Given the description of an element on the screen output the (x, y) to click on. 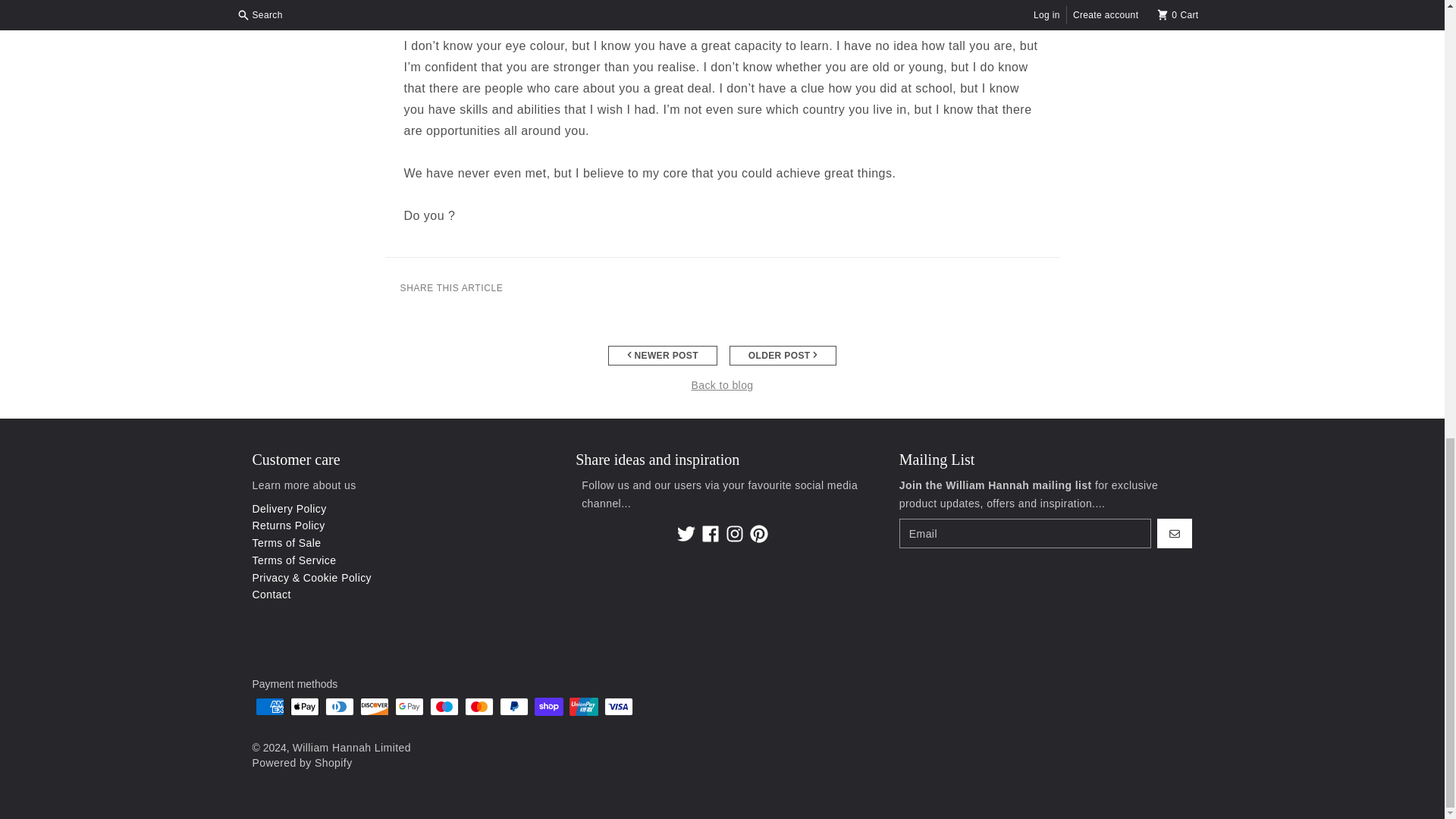
Twitter - William Hannah Limited (685, 533)
Pinterest - William Hannah Limited (758, 533)
NEWER POST (662, 355)
Terms of Sale (286, 542)
Facebook - William Hannah Limited (709, 533)
Returns Policy (287, 525)
William Hannah Limited (351, 747)
OLDER POST (783, 355)
Instagram - William Hannah Limited (733, 533)
Delivery Policy (288, 508)
Powered by Shopify (301, 762)
GO (1174, 533)
Terms of Service (293, 560)
Back to blog (721, 385)
Contact (271, 594)
